Given the description of an element on the screen output the (x, y) to click on. 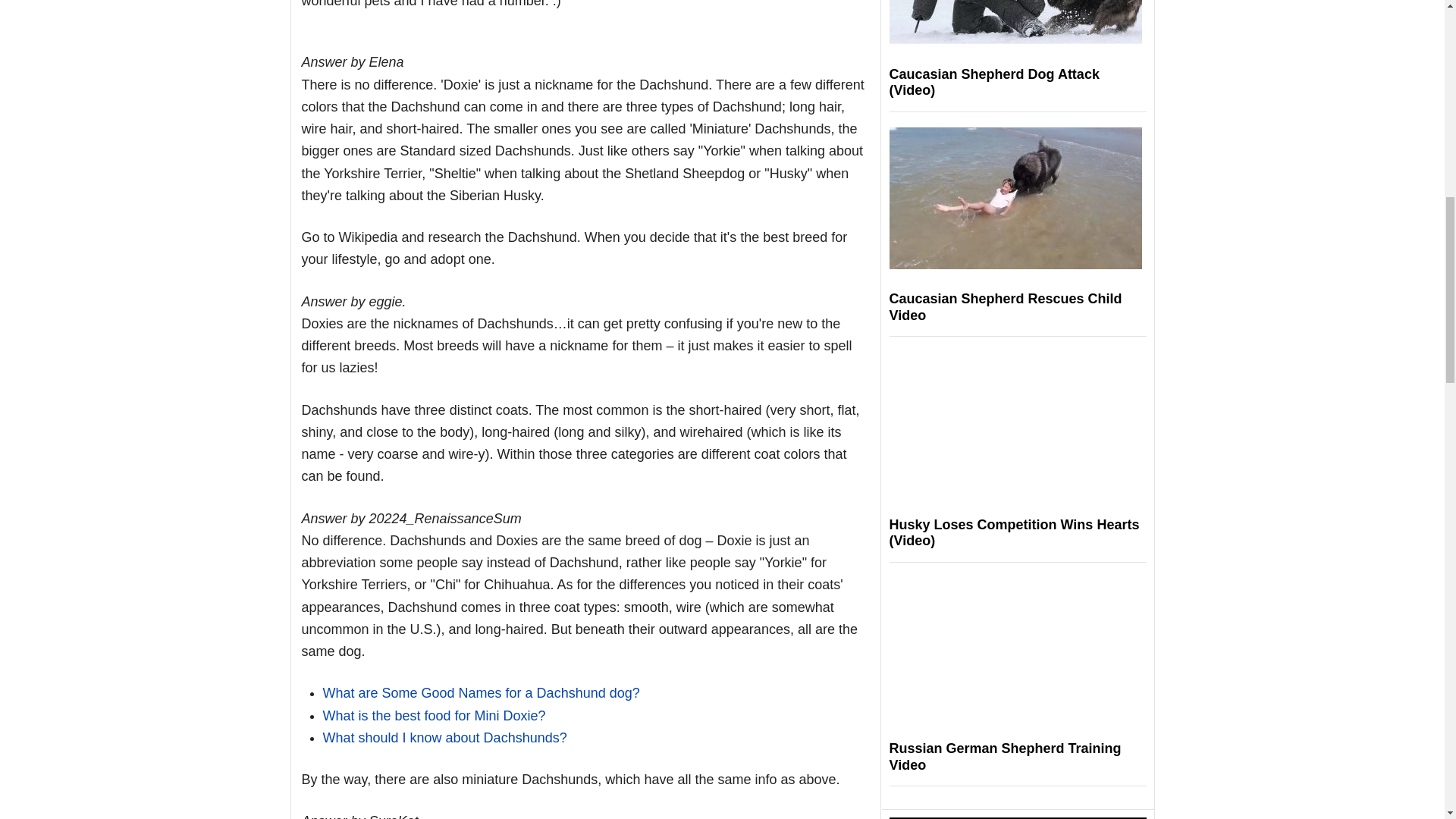
What should I know about Dachshunds? (445, 737)
What are Some Good Names for a Dachshund dog? (481, 693)
What is the best food for Mini Doxie? (434, 715)
